Given the description of an element on the screen output the (x, y) to click on. 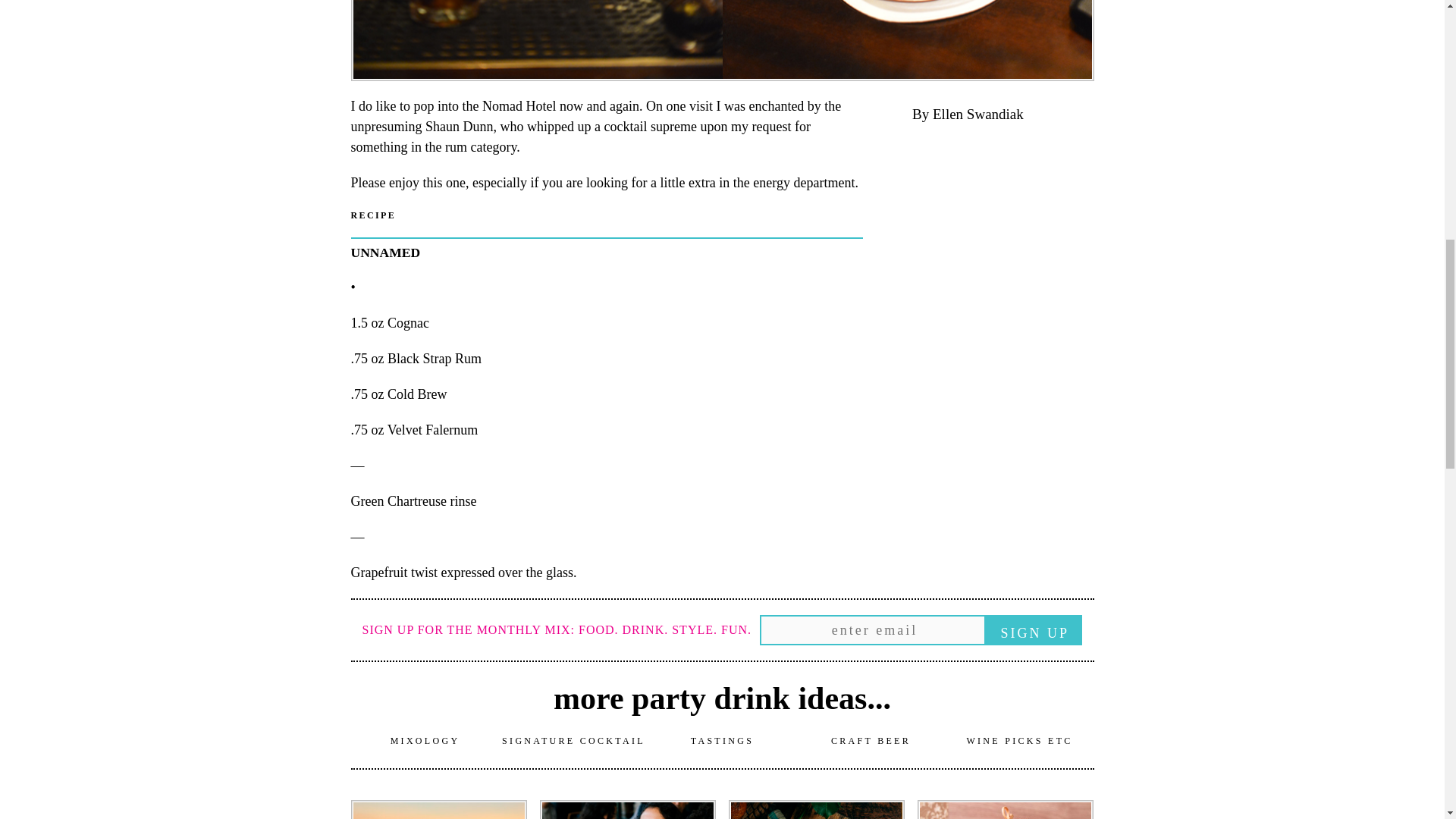
TASTINGS (722, 740)
SIGN UP (1034, 630)
SIGN UP (1034, 630)
WINE PICKS ETC (1018, 740)
CRAFT BEER (871, 740)
MIXOLOGY (425, 740)
SIGNATURE COCKTAIL (573, 740)
